Given the description of an element on the screen output the (x, y) to click on. 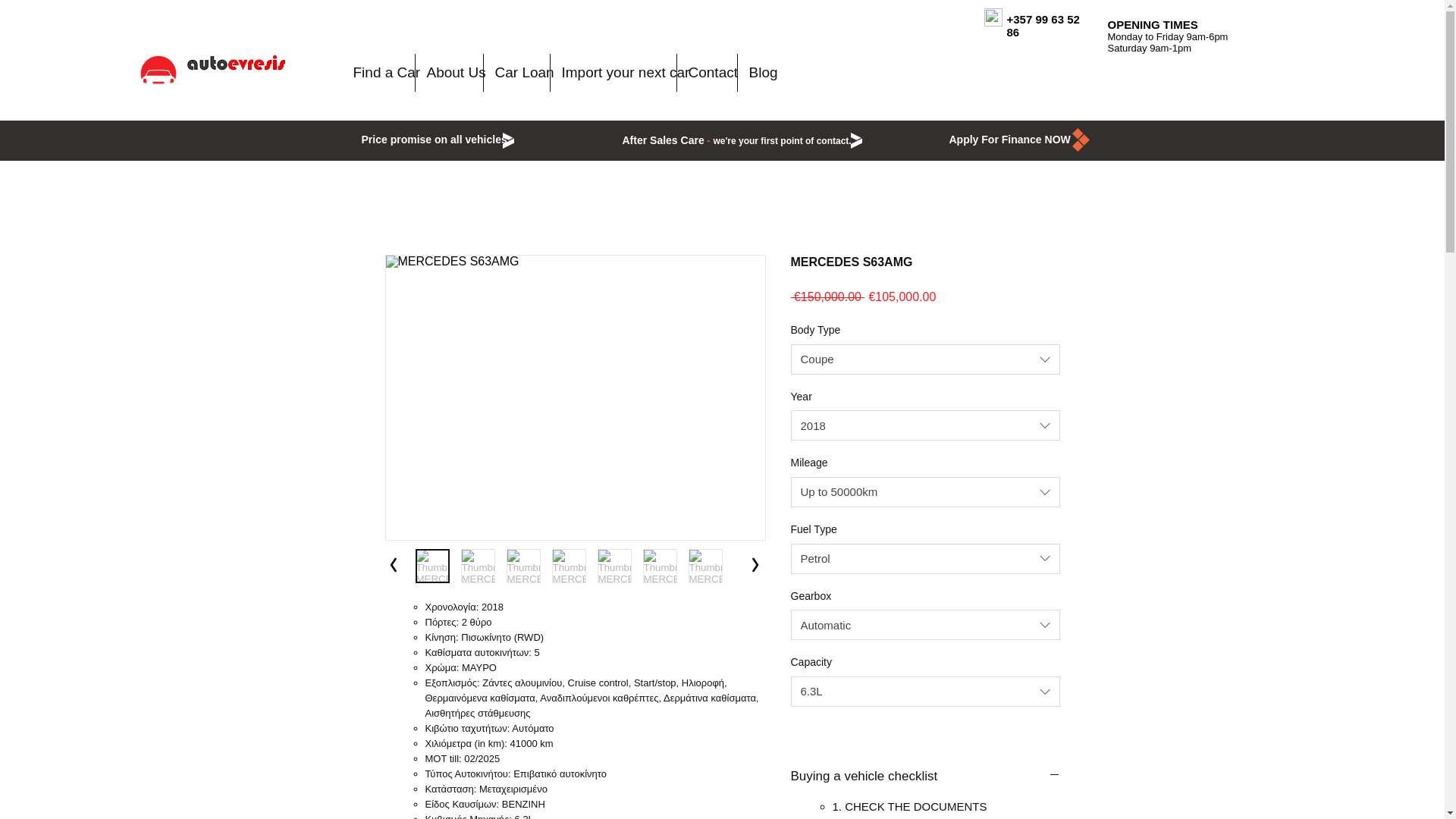
Car Loan (516, 72)
Apply For Finance NOW (1009, 136)
Up to 50000km (924, 491)
2018 (924, 425)
About Us (448, 72)
Import your next car (613, 72)
Coupe (924, 358)
Petrol (924, 558)
Contact (706, 72)
Price promise on all vehicles (433, 139)
6.3L (924, 691)
After Sales Care - we're your first point of contact. (735, 140)
Blog (758, 72)
Find a Car (376, 72)
cropped-favicon.png (158, 70)
